Given the description of an element on the screen output the (x, y) to click on. 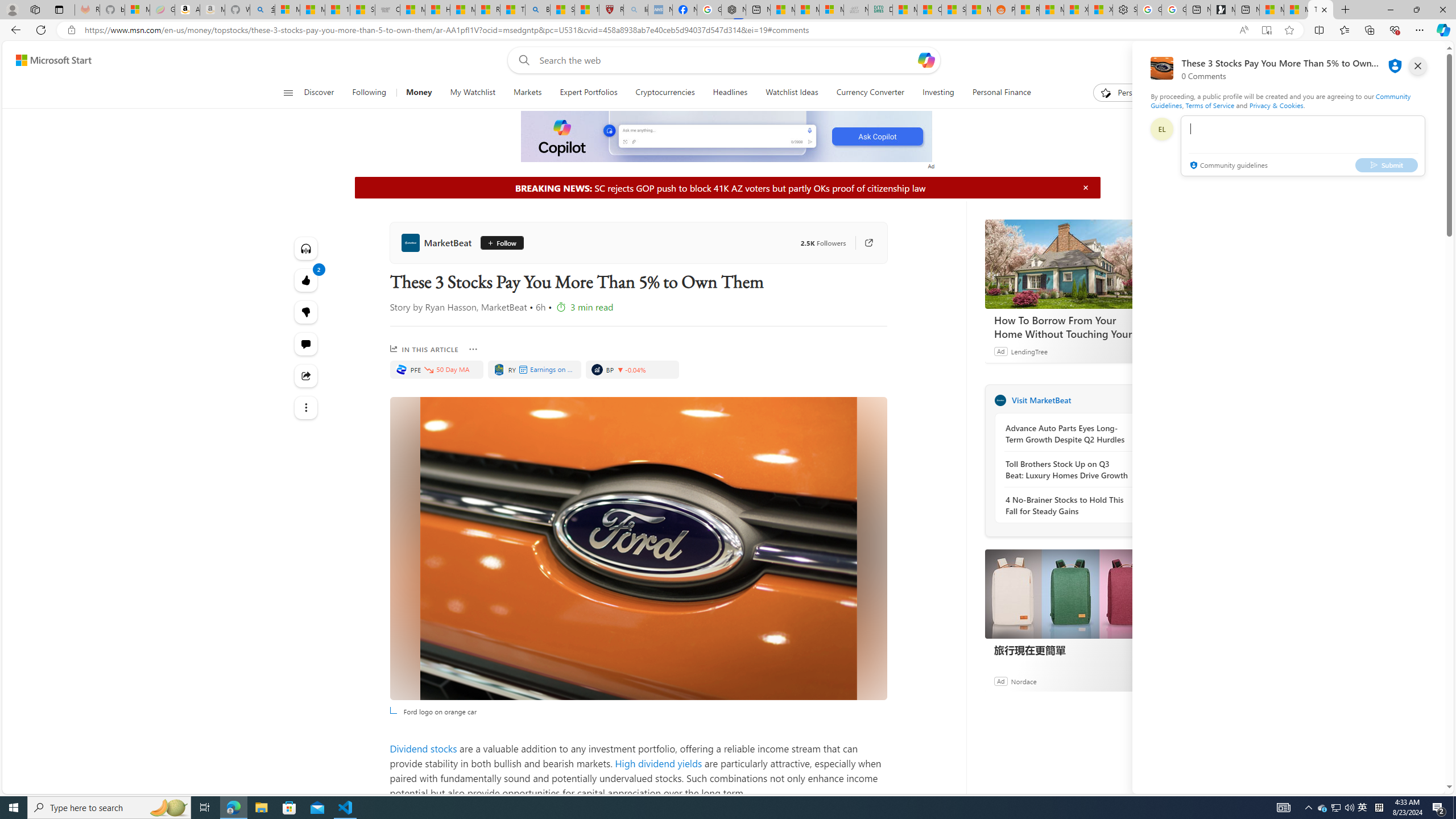
Price decrease (620, 369)
Open navigation menu (287, 92)
More Options (473, 348)
Share this story (305, 375)
Headlines (730, 92)
Class: at-item (305, 407)
Go to publisher's site (863, 242)
Markets (527, 92)
